Given the description of an element on the screen output the (x, y) to click on. 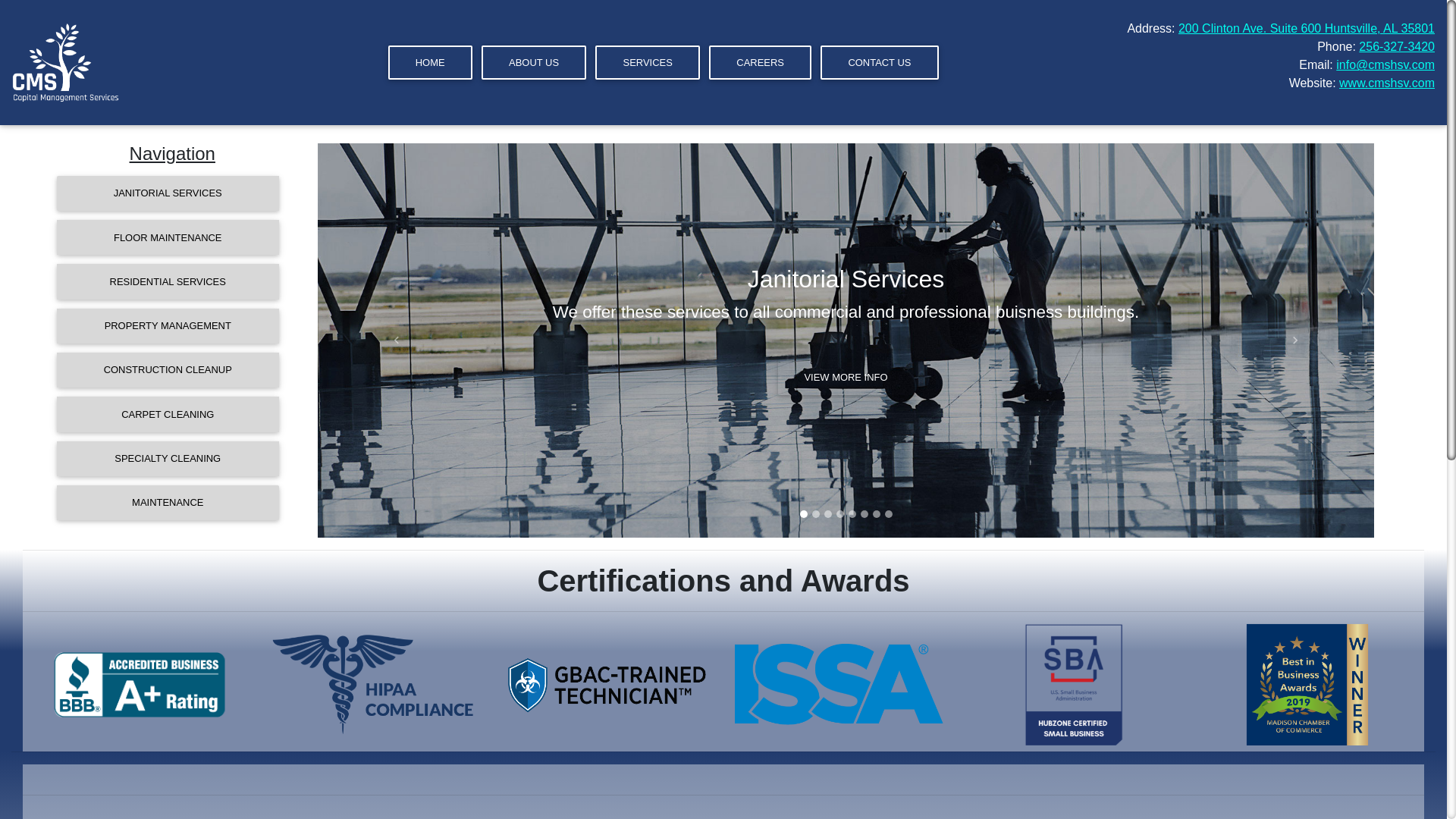
CAREERS (759, 62)
Previous (396, 340)
VIEW MORE INFO (845, 401)
SERVICES (647, 62)
ABOUT US (533, 62)
256-327-3420 (1396, 46)
HOME (429, 62)
MAINTENANCE (65, 502)
PROPERTY MANAGEMENT (25, 325)
200 Clinton Ave. Suite 600 Huntsville, AL 35801 (1305, 28)
CONTACT US (879, 62)
SPECIALTY CLEANING (53, 458)
CARPET CLEANING (47, 413)
www.cmshsv.com (1386, 82)
Next (1294, 340)
